Given the description of an element on the screen output the (x, y) to click on. 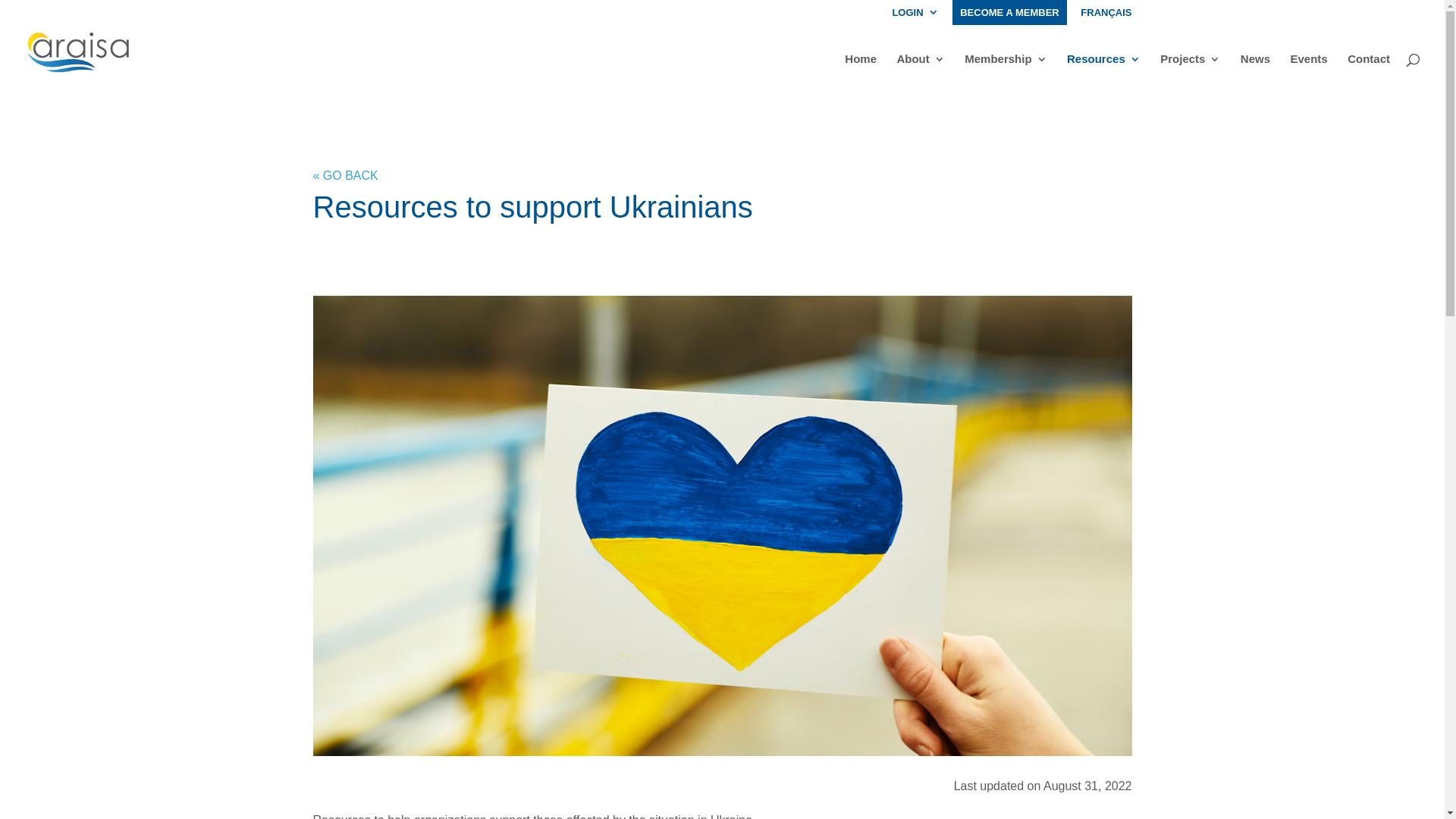
LOGIN Element type: text (914, 16)
Resources Element type: text (1103, 66)
Contact Element type: text (1368, 66)
News Element type: text (1255, 66)
Events Element type: text (1308, 66)
Home Element type: text (860, 66)
Projects Element type: text (1190, 66)
About Element type: text (920, 66)
BECOME A MEMBER Element type: text (1009, 12)
Membership Element type: text (1005, 66)
